Given the description of an element on the screen output the (x, y) to click on. 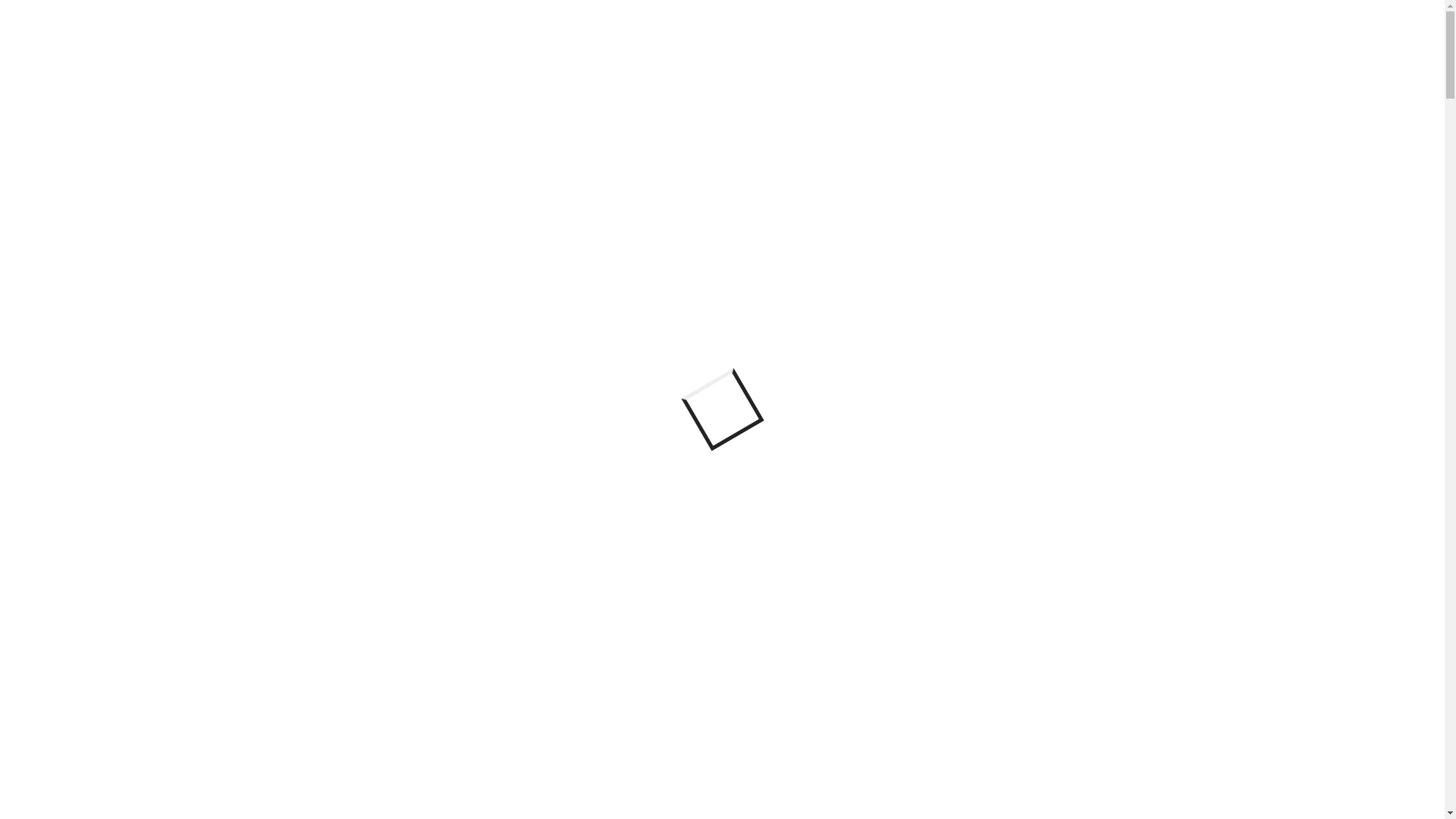
Preprint available. Element type: text (531, 754)
list of all publications separated by type Element type: text (633, 329)
Preprint available. Element type: text (458, 790)
Preprint available. Element type: text (1038, 681)
Preprint available. Element type: text (919, 644)
Preprint available. Element type: text (1073, 717)
Preprint available. Element type: text (598, 608)
Fabio Cozman's Home Page Element type: text (83, 547)
errata Element type: text (807, 377)
fgcozman@usp.br Element type: text (444, 274)
